Given the description of an element on the screen output the (x, y) to click on. 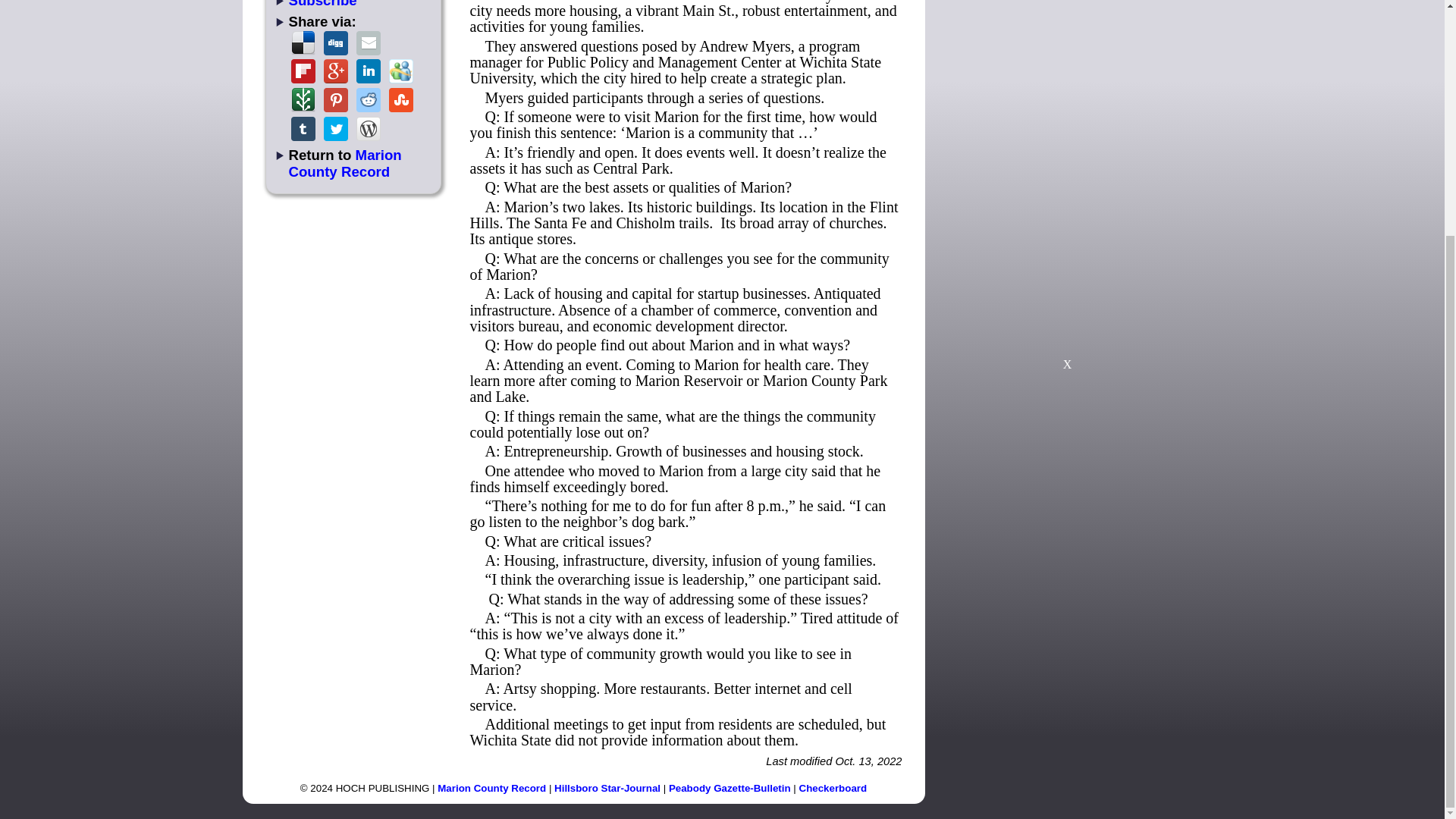
Marion County Record (492, 787)
Subscribe (322, 4)
Marion County Record (344, 163)
Advertisement (1067, 269)
Peabody Gazette-Bulletin (729, 787)
Checkerboard (833, 787)
Hillsboro Star-Journal (607, 787)
